Given the description of an element on the screen output the (x, y) to click on. 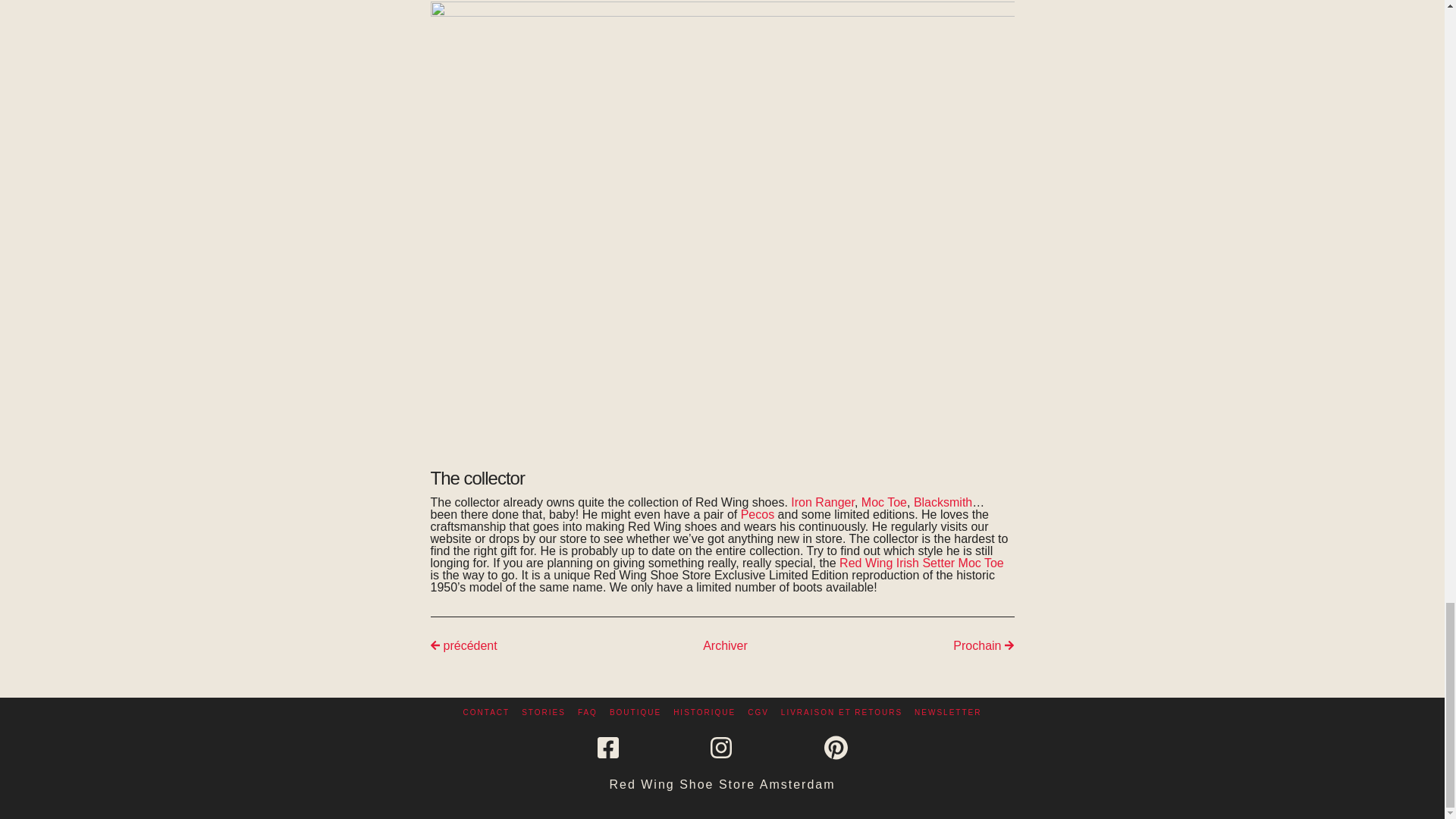
Iron Ranger (822, 502)
